Given the description of an element on the screen output the (x, y) to click on. 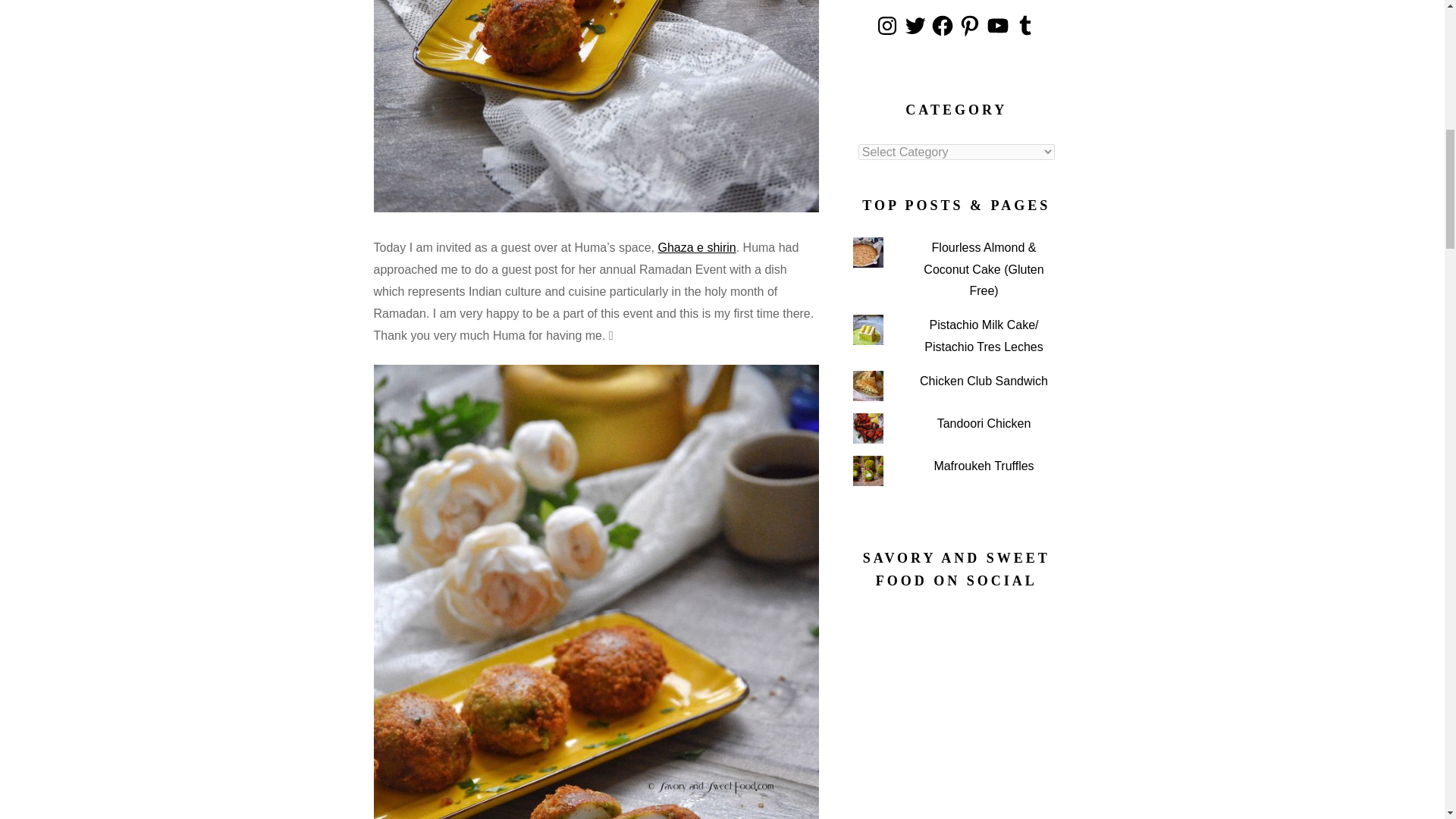
Ghaza e shirin (697, 246)
